Given the description of an element on the screen output the (x, y) to click on. 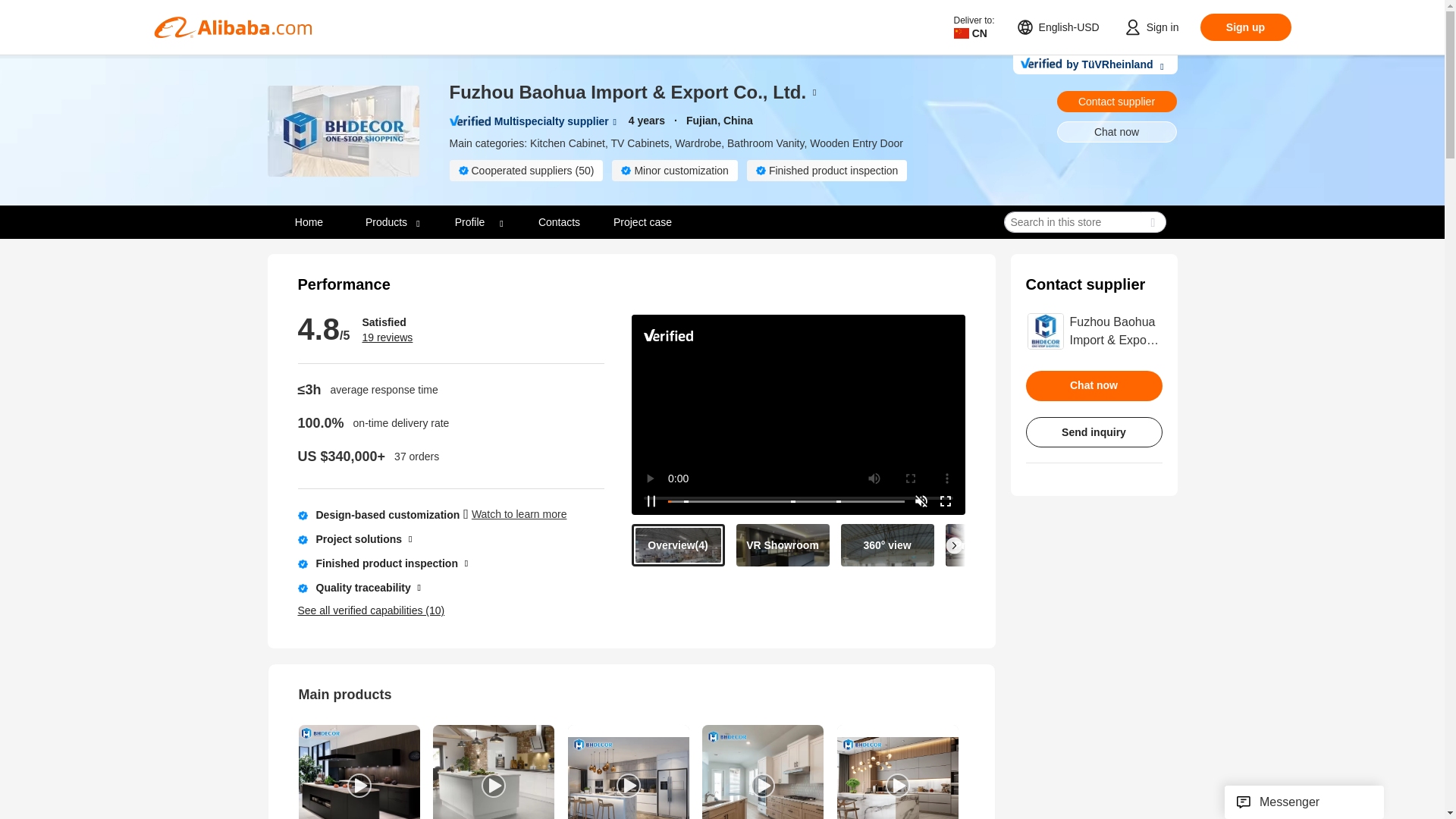
Chat now (1116, 131)
Contact supplier (1116, 101)
Products (391, 222)
Home (309, 222)
Home (308, 222)
Contact supplier (1116, 101)
Products (386, 222)
